Given the description of an element on the screen output the (x, y) to click on. 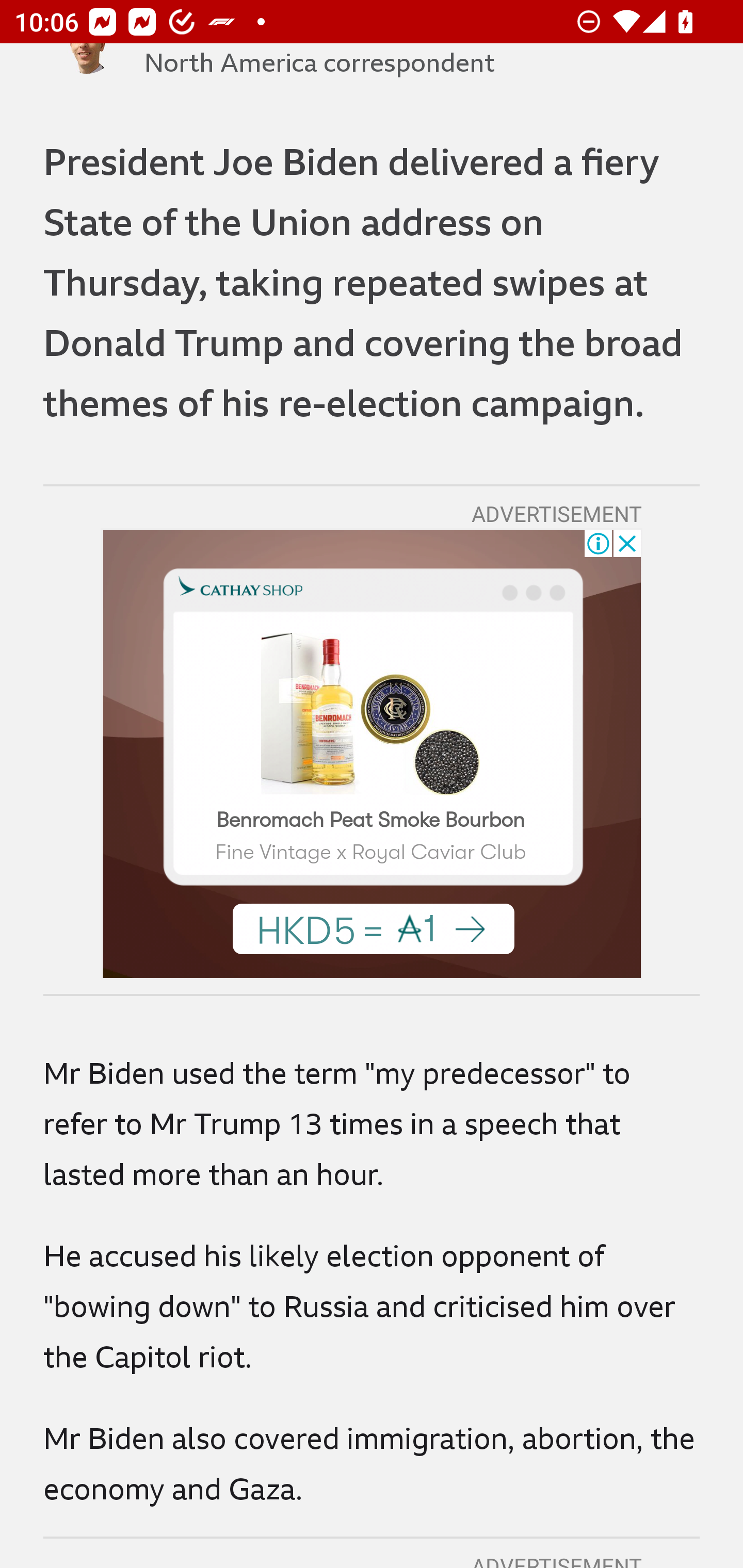
46 (370, 712)
